Given the description of an element on the screen output the (x, y) to click on. 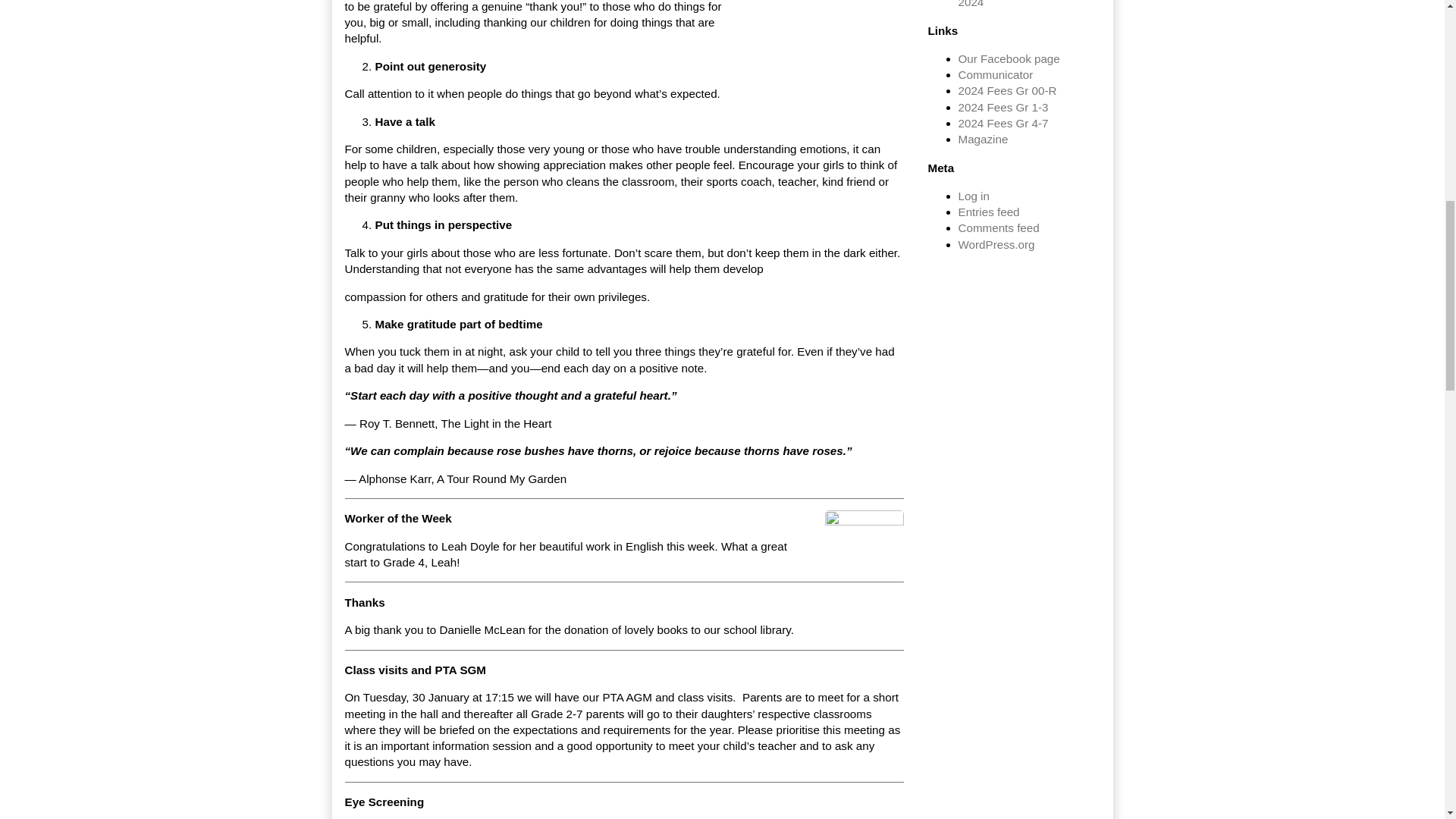
Communicator (995, 74)
Our Facebook page (1008, 58)
VP Newsletter 26 July 2024 (1014, 4)
